Given the description of an element on the screen output the (x, y) to click on. 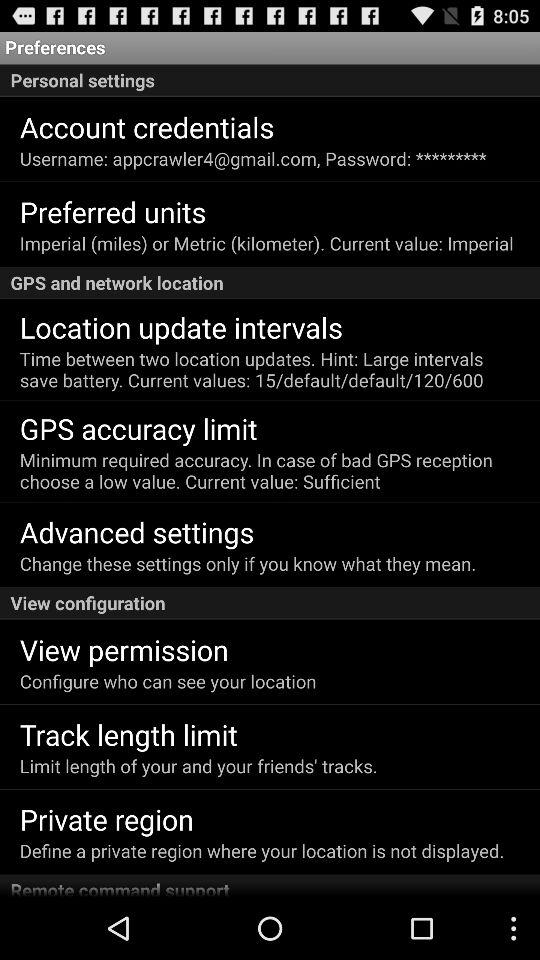
flip to advanced settings (136, 531)
